Given the description of an element on the screen output the (x, y) to click on. 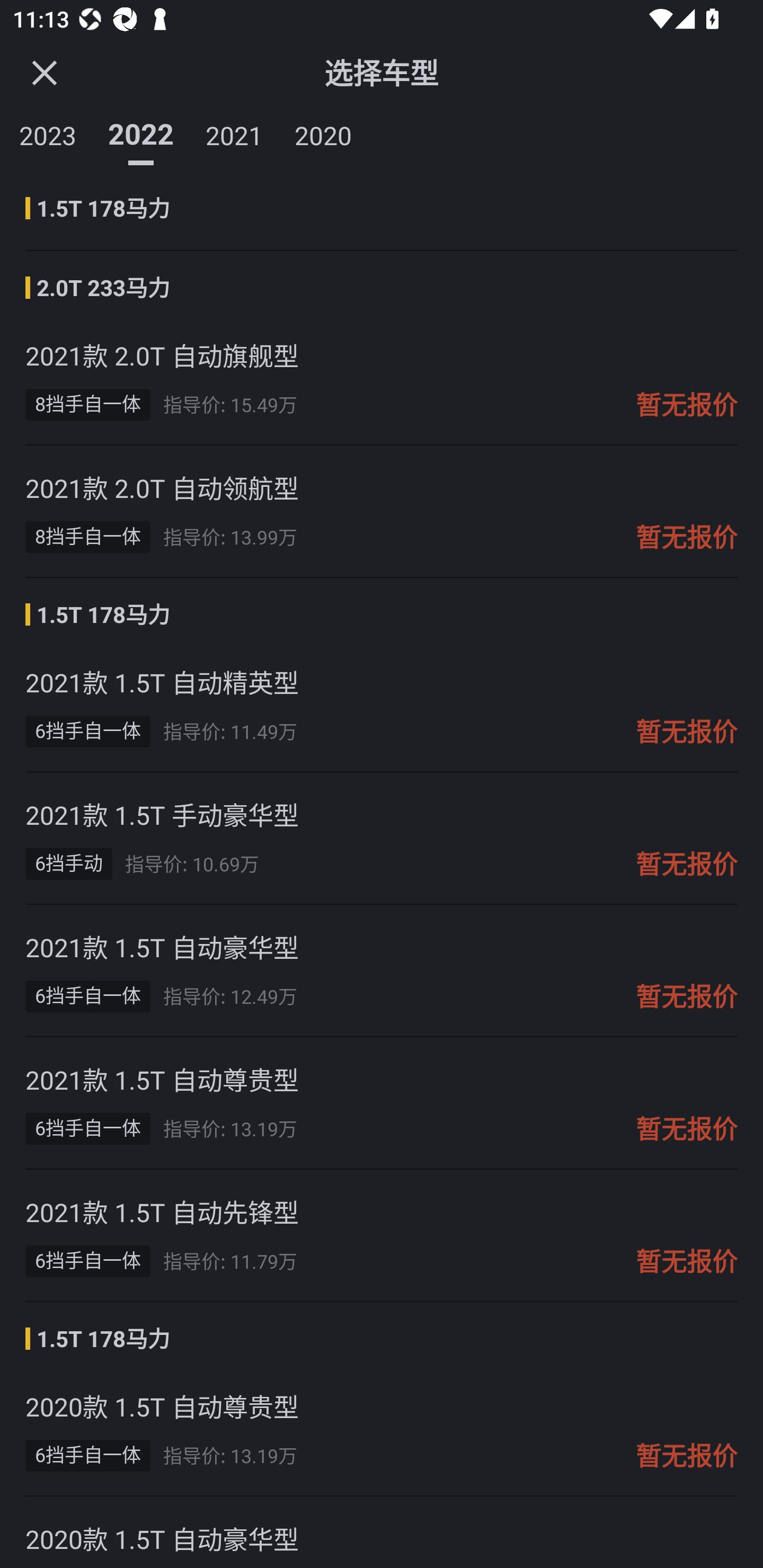
 (44, 71)
2023 (47, 132)
2022 (140, 132)
2021 (233, 132)
2020 (322, 132)
2022款 经典版 1.5T 自动卓越型 6挡手自一体 指导价: 12.49万 10.49万 (381, 210)
2021款 2.0T 自动旗舰型 8挡手自一体 指导价: 15.49万 暂无报价 (381, 379)
2021款 2.0T 自动领航型 8挡手自一体 指导价: 13.99万 暂无报价 (381, 511)
2021款 1.5T 自动精英型 6挡手自一体 指导价: 11.49万 暂无报价 (381, 706)
2021款 1.5T 手动豪华型 6挡手动 指导价: 10.69万 暂无报价 (381, 838)
2021款 1.5T 自动豪华型 6挡手自一体 指导价: 12.49万 暂无报价 (381, 970)
2021款 1.5T 自动尊贵型 6挡手自一体 指导价: 13.19万 暂无报价 (381, 1102)
2021款 1.5T 自动先锋型 6挡手自一体 指导价: 11.79万 暂无报价 (381, 1235)
2020款 1.5T 自动尊贵型 6挡手自一体 指导价: 13.19万 暂无报价 (381, 1429)
2020款 1.5T 自动豪华型 (381, 1531)
